Given the description of an element on the screen output the (x, y) to click on. 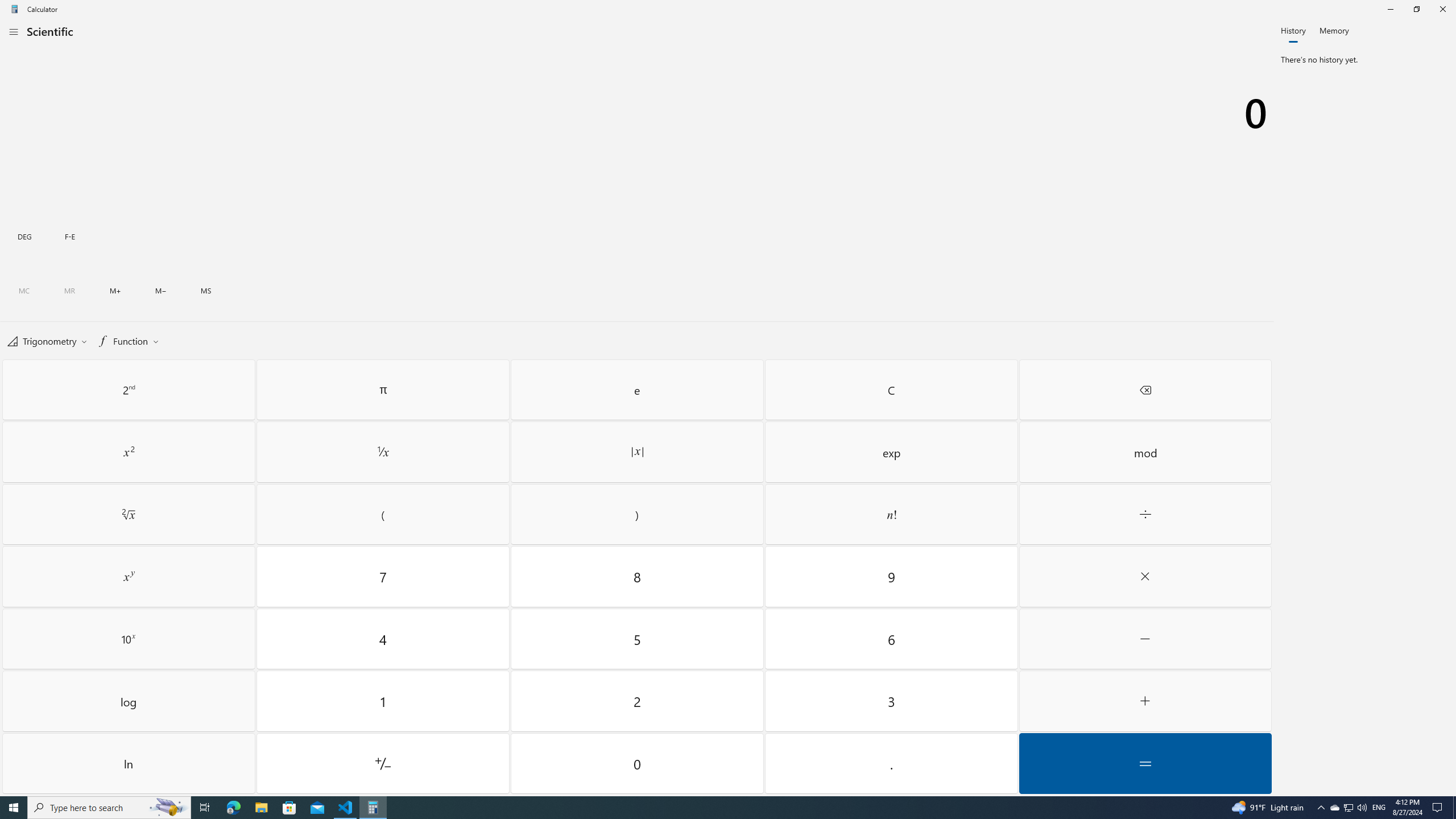
Zero (637, 763)
Memory store (206, 290)
Trigonometry (46, 340)
Start (13, 807)
Inverse function (128, 389)
Scientific notation (69, 235)
Multiply by (1145, 576)
Two (637, 701)
Tray Input Indicator - English (United States) (1378, 807)
Positive negative (382, 763)
Square root (128, 514)
Notification Chevron (1320, 807)
Functions (128, 340)
Nine (890, 576)
Factorial (890, 514)
